Given the description of an element on the screen output the (x, y) to click on. 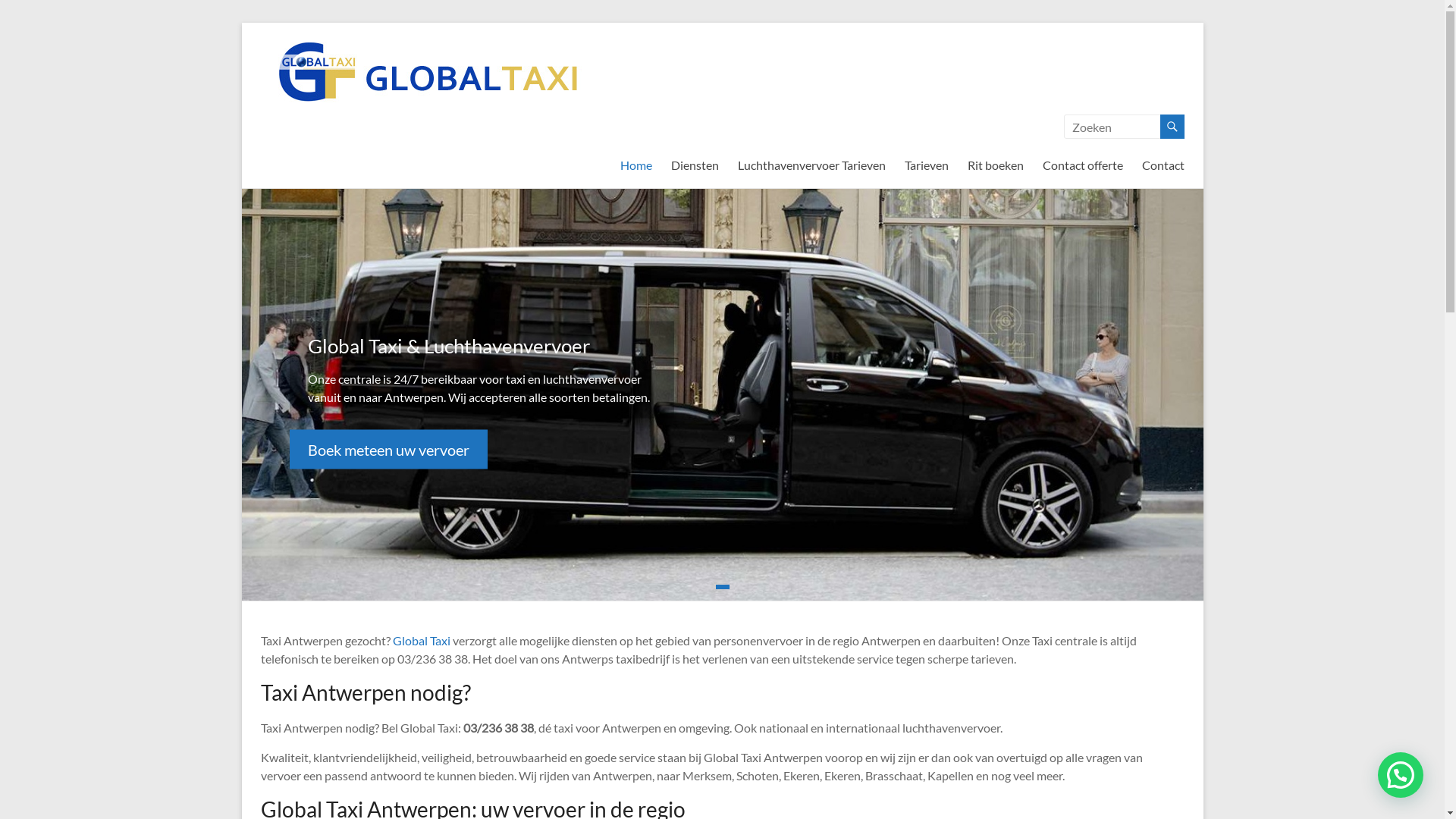
Contact offerte Element type: text (1081, 164)
Diensten Element type: text (694, 164)
Luchthavenvervoer Tarieven Element type: text (810, 164)
Global Taxi Element type: text (297, 68)
Boek meteen uw vervoer Element type: text (388, 448)
Rit boeken Element type: text (995, 164)
Tarieven Element type: text (925, 164)
Global Taxi & Luchthavenvervoer Element type: text (448, 344)
Global Taxi Element type: text (421, 640)
Home Element type: text (636, 164)
Contact Element type: text (1163, 164)
Ga naar inhoud Element type: text (241, 21)
